Given the description of an element on the screen output the (x, y) to click on. 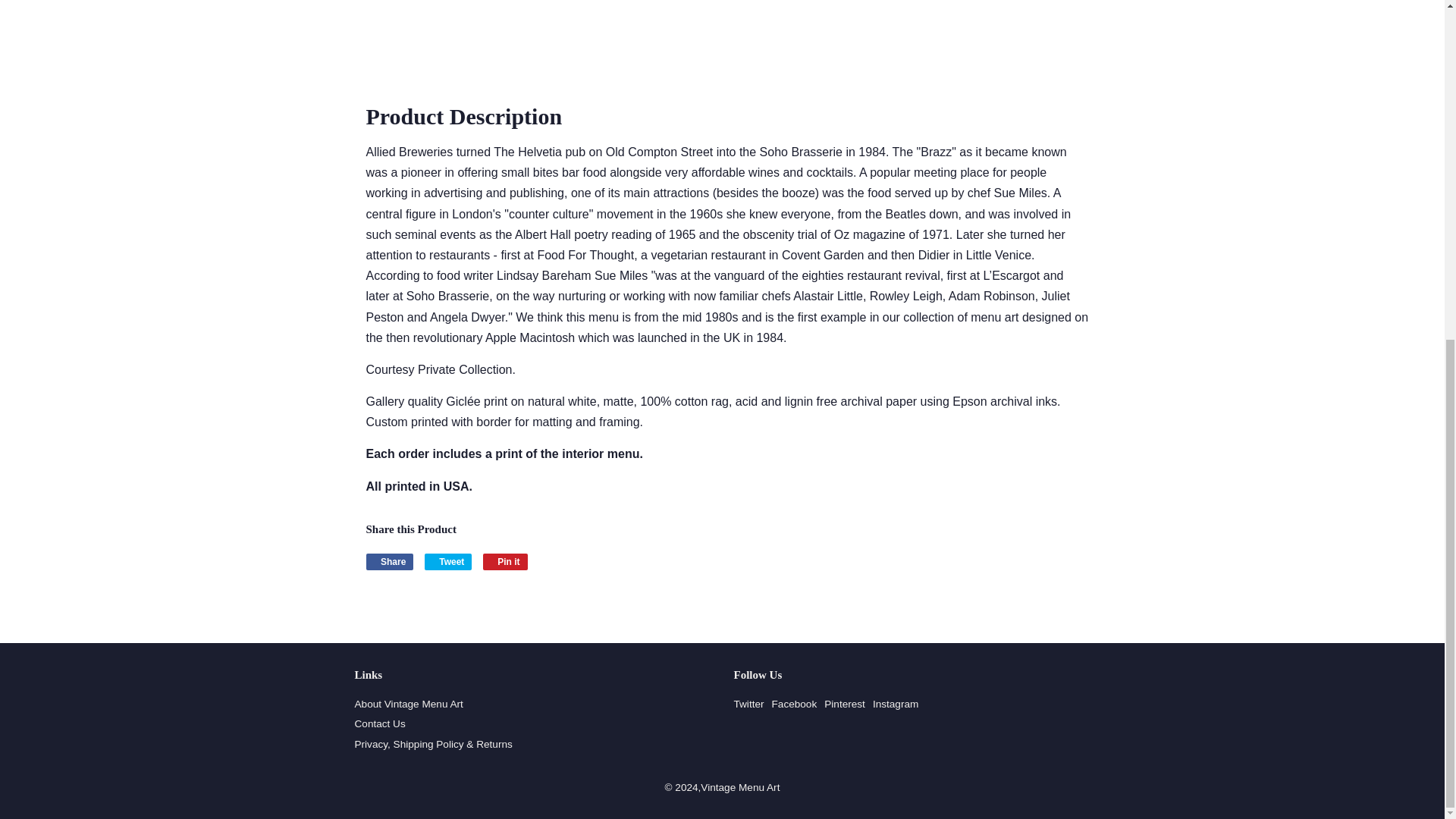
Vintage Menu Art on Facebook (793, 704)
Pin on Pinterest (505, 561)
Vintage Menu Art on Twitter (748, 704)
Vintage Menu Art on Instagram (895, 704)
Tweet on Twitter (448, 561)
Share on Facebook (389, 561)
Vintage Menu Art on Pinterest (844, 704)
